Given the description of an element on the screen output the (x, y) to click on. 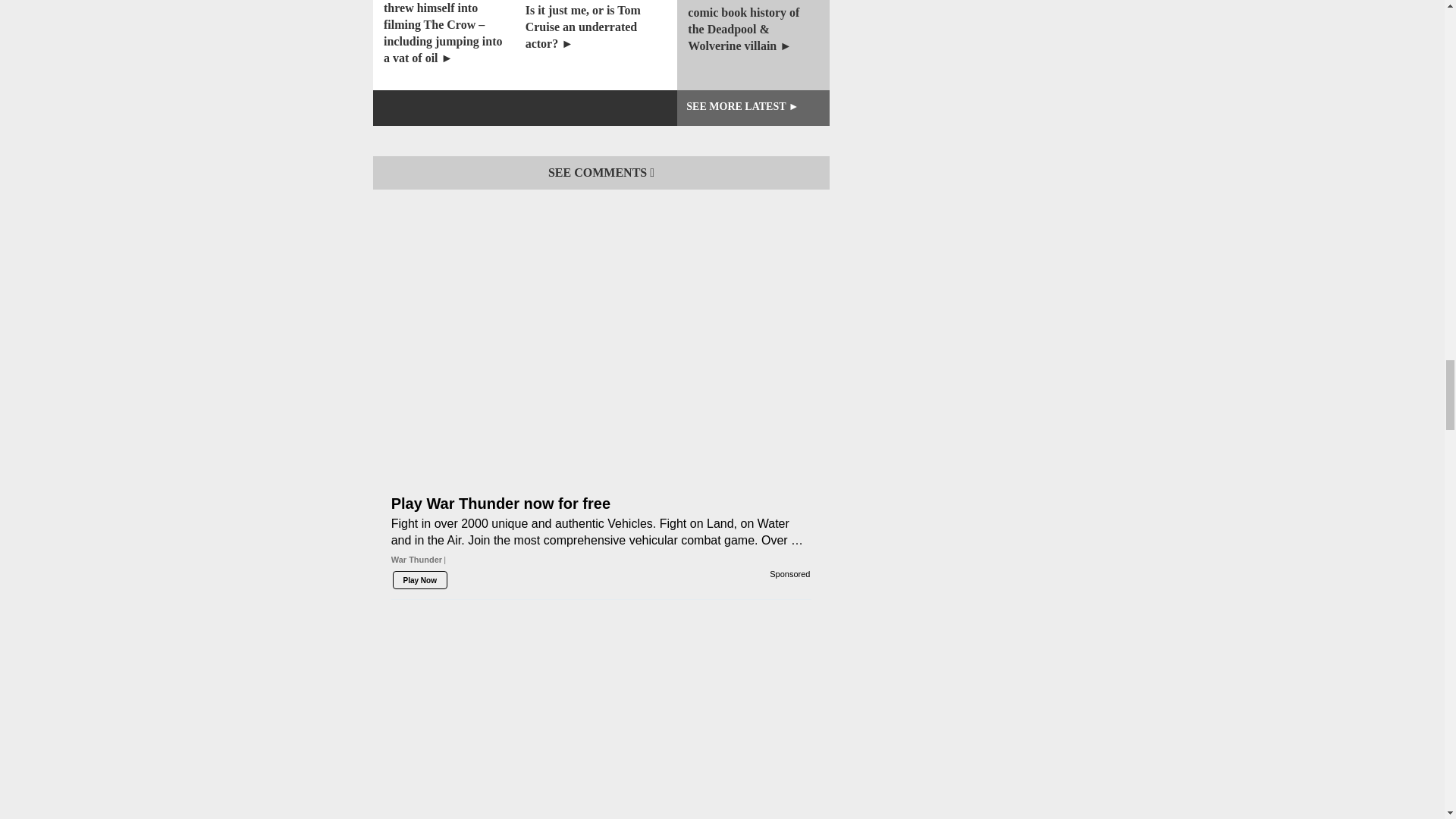
Play War Thunder now for free (600, 557)
Play War Thunder now for free (600, 406)
